Given the description of an element on the screen output the (x, y) to click on. 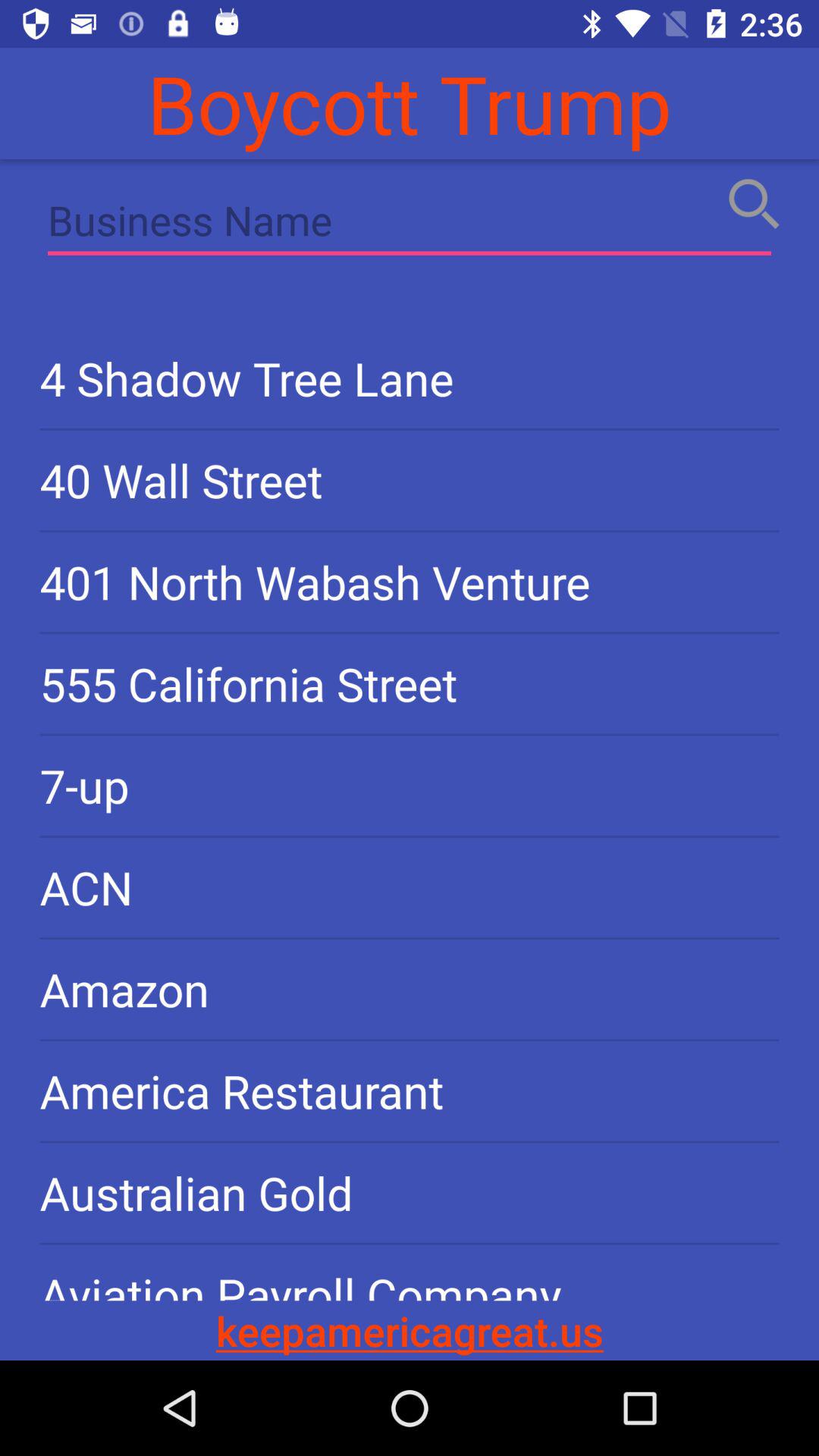
turn off the item above australian gold icon (409, 1090)
